Given the description of an element on the screen output the (x, y) to click on. 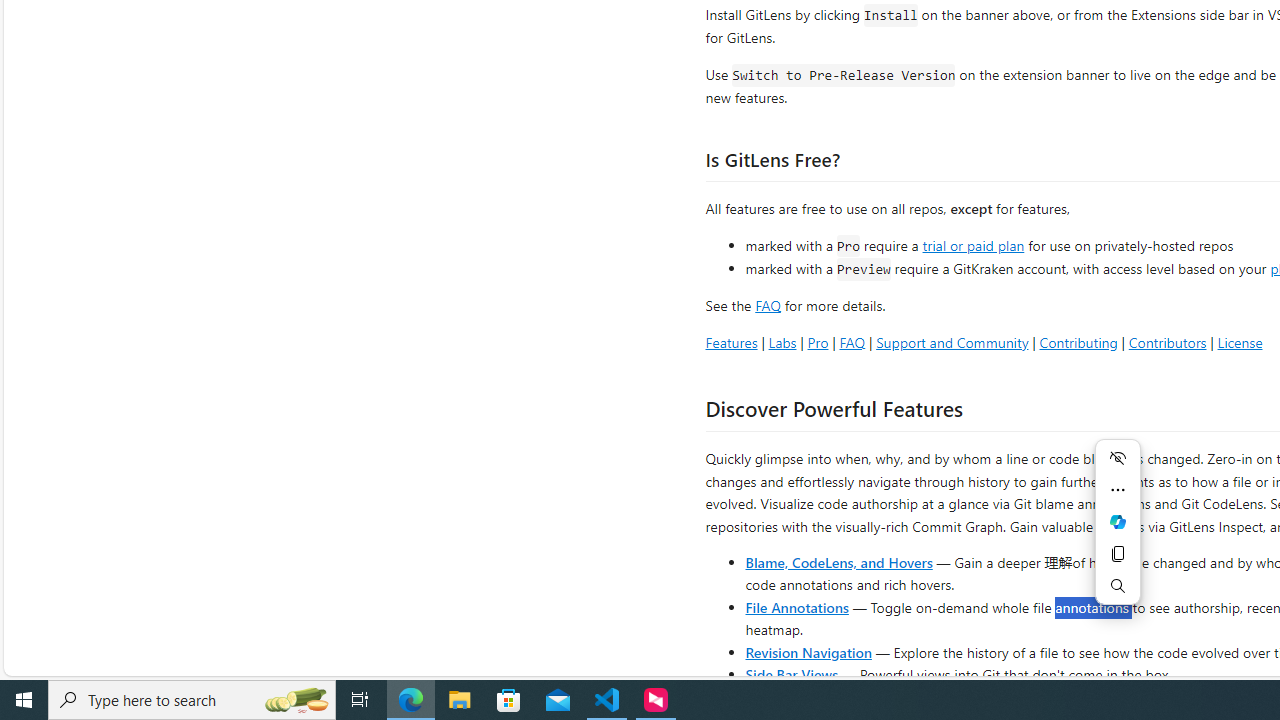
More actions (1117, 489)
Contributing (1078, 341)
trial or paid plan (973, 244)
Revision Navigation (807, 651)
